Given the description of an element on the screen output the (x, y) to click on. 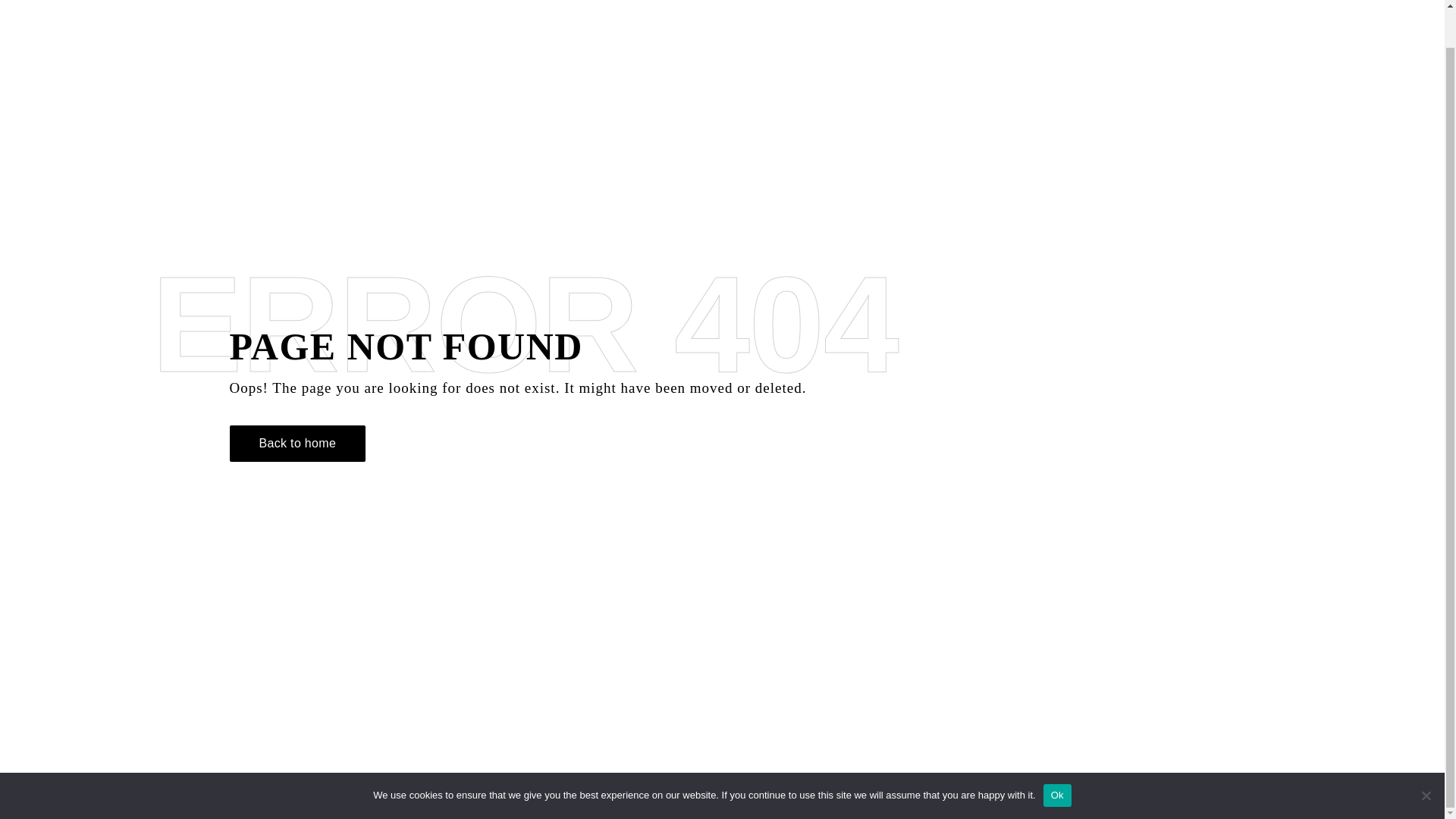
Back to home (296, 443)
Instagram (1324, 798)
Youtube (1395, 798)
Cbra (108, 798)
Ok (1057, 755)
No (1425, 755)
Facebook (1248, 798)
